Given the description of an element on the screen output the (x, y) to click on. 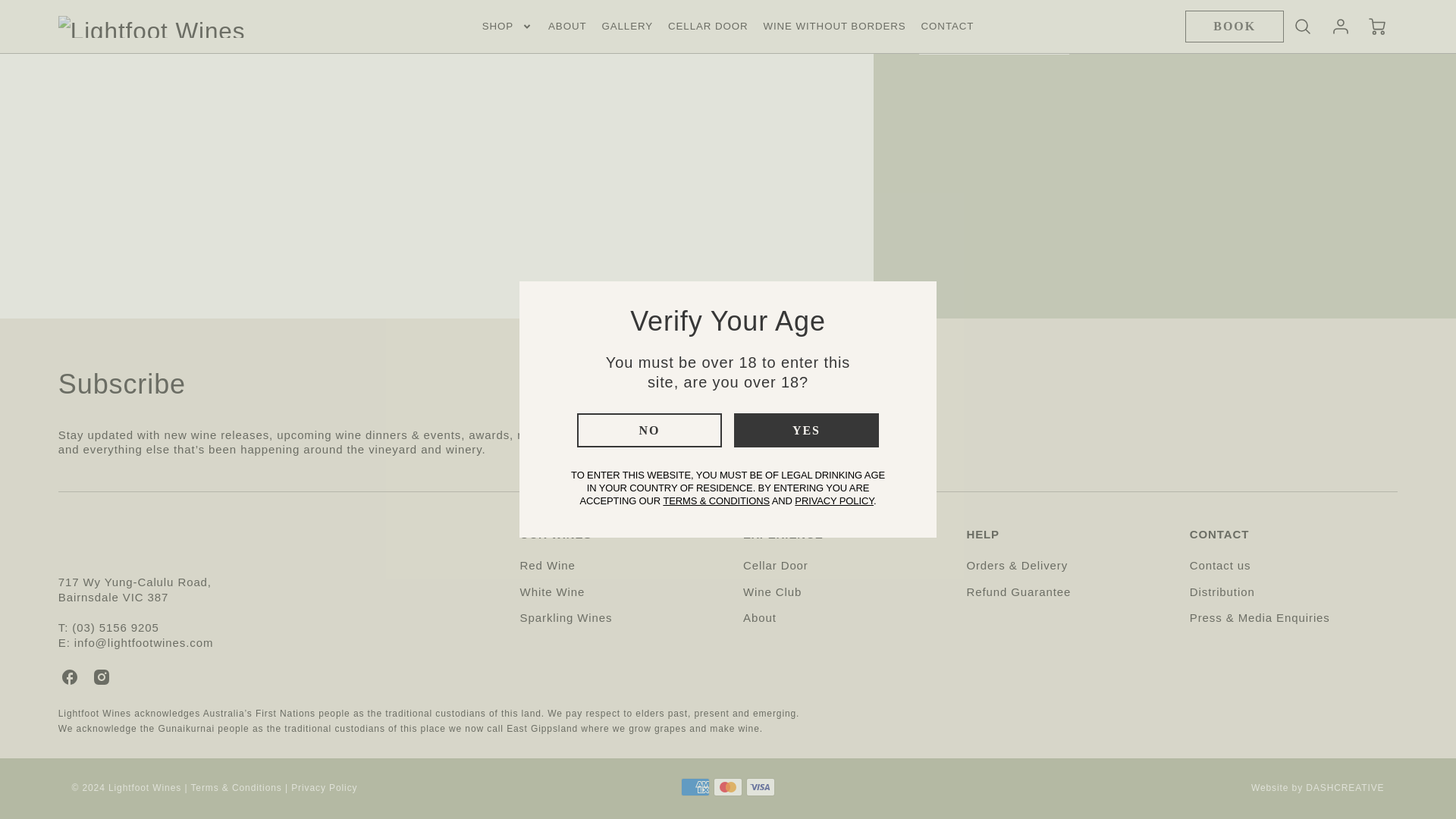
Visa (759, 786)
American Express (695, 786)
Mastercard (727, 786)
